Given the description of an element on the screen output the (x, y) to click on. 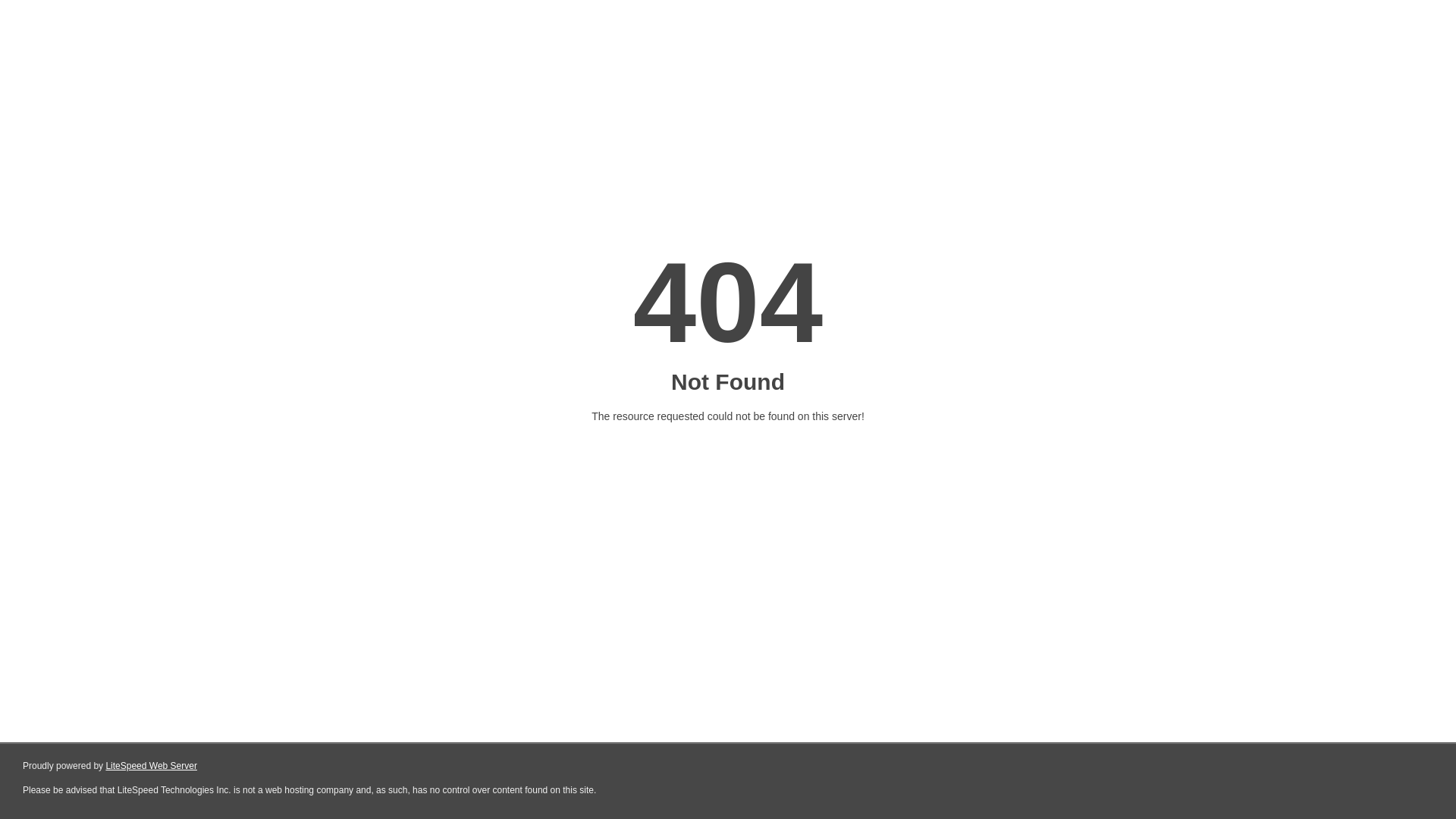
LiteSpeed Web Server Element type: text (151, 765)
